Given the description of an element on the screen output the (x, y) to click on. 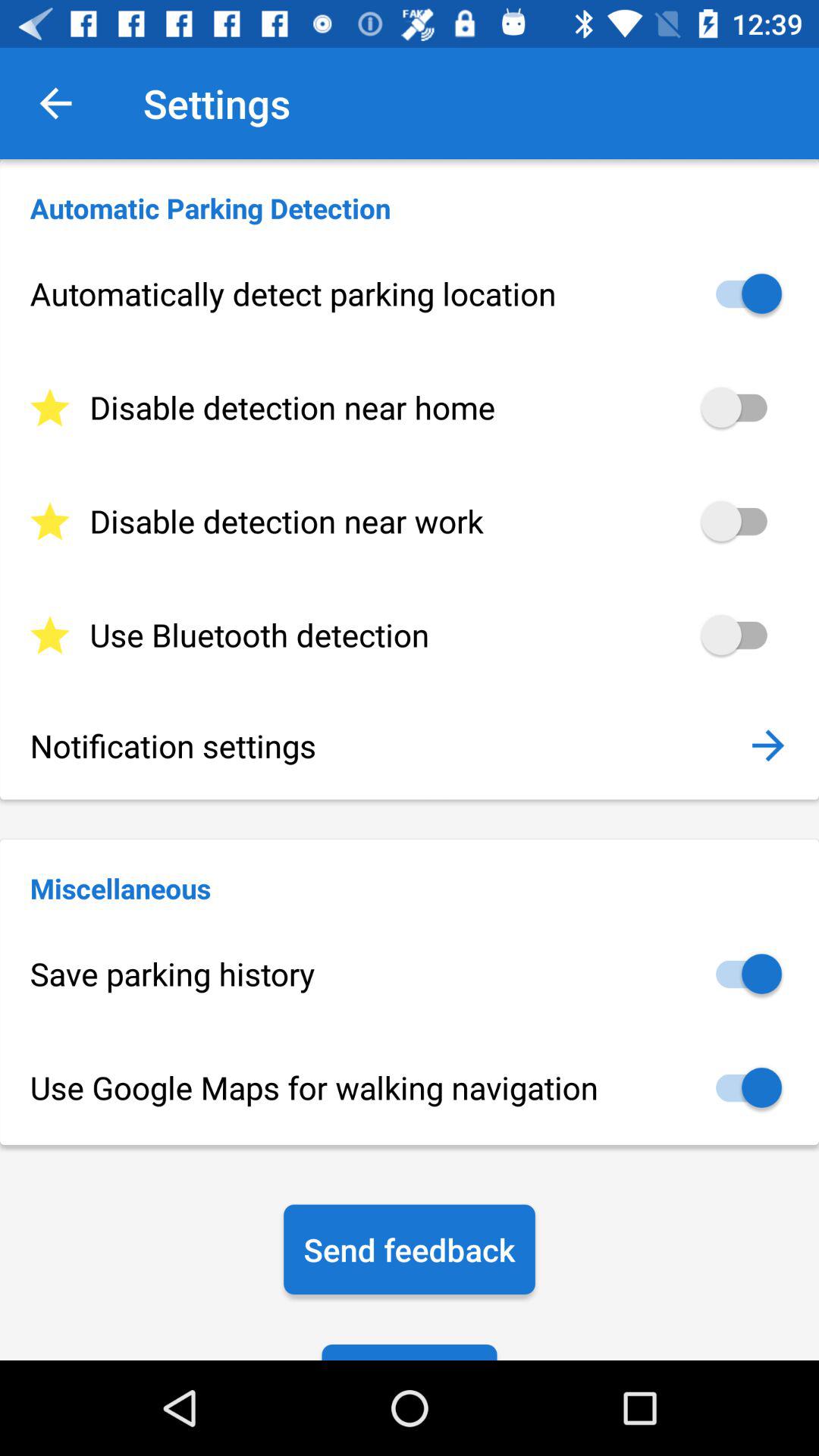
turn off item above use google maps (409, 973)
